Given the description of an element on the screen output the (x, y) to click on. 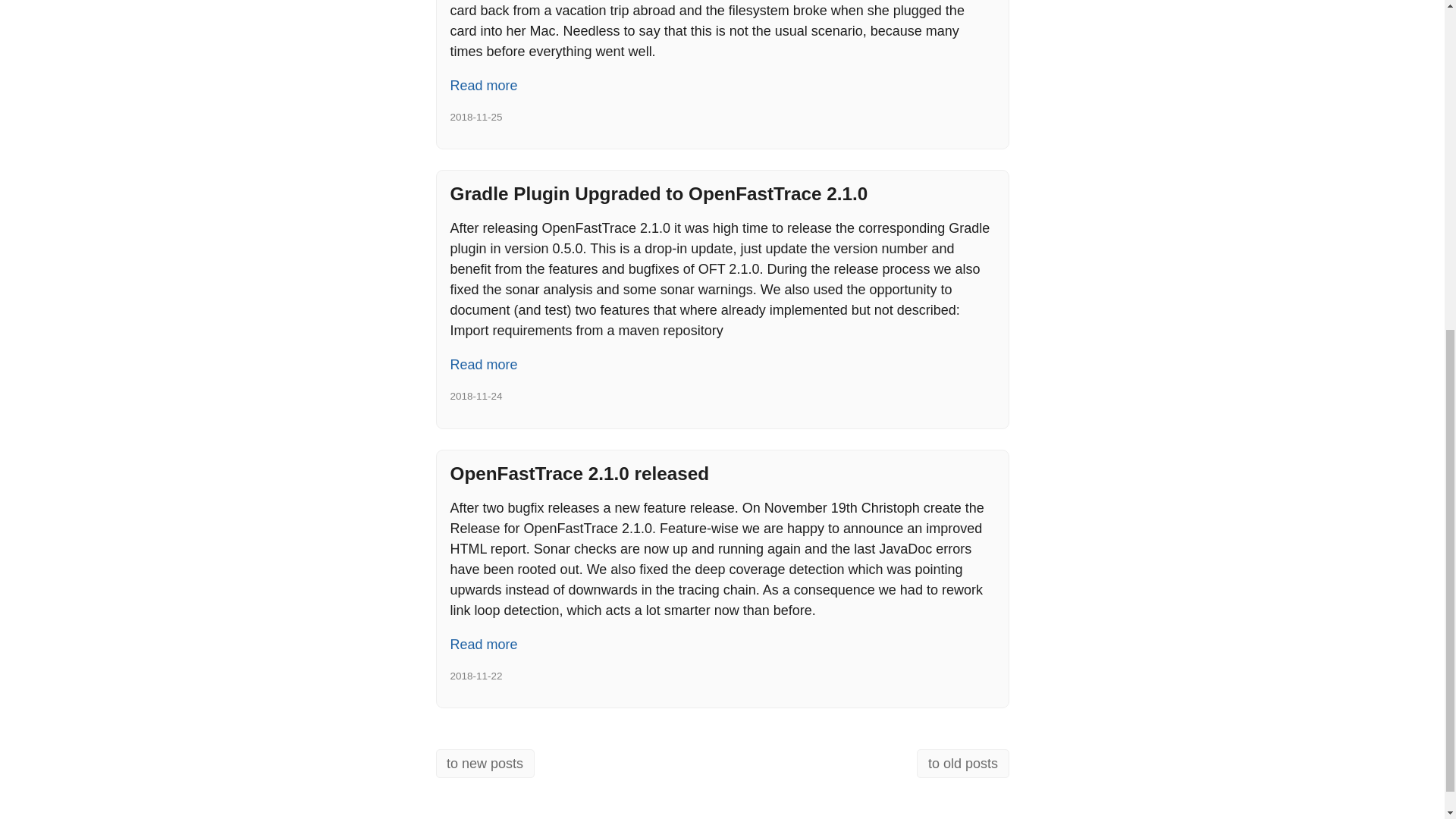
Read more (483, 85)
to new posts (484, 763)
OpenFastTrace 2.1.0 released (579, 473)
Read more (483, 365)
to old posts (962, 763)
Read more (483, 644)
Gradle Plugin Upgraded to OpenFastTrace 2.1.0 (658, 193)
